Given the description of an element on the screen output the (x, y) to click on. 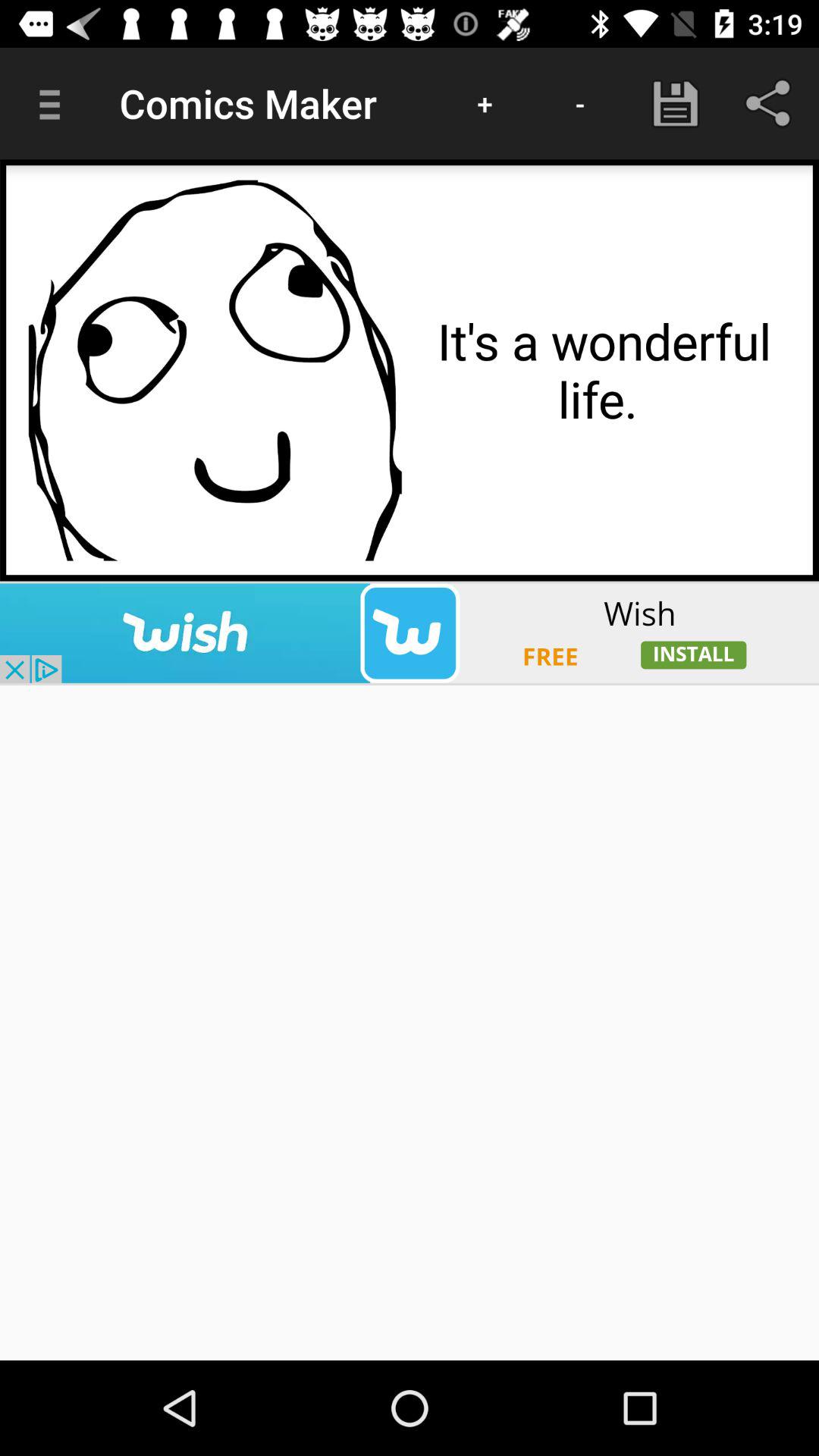
colour paga (214, 370)
